Given the description of an element on the screen output the (x, y) to click on. 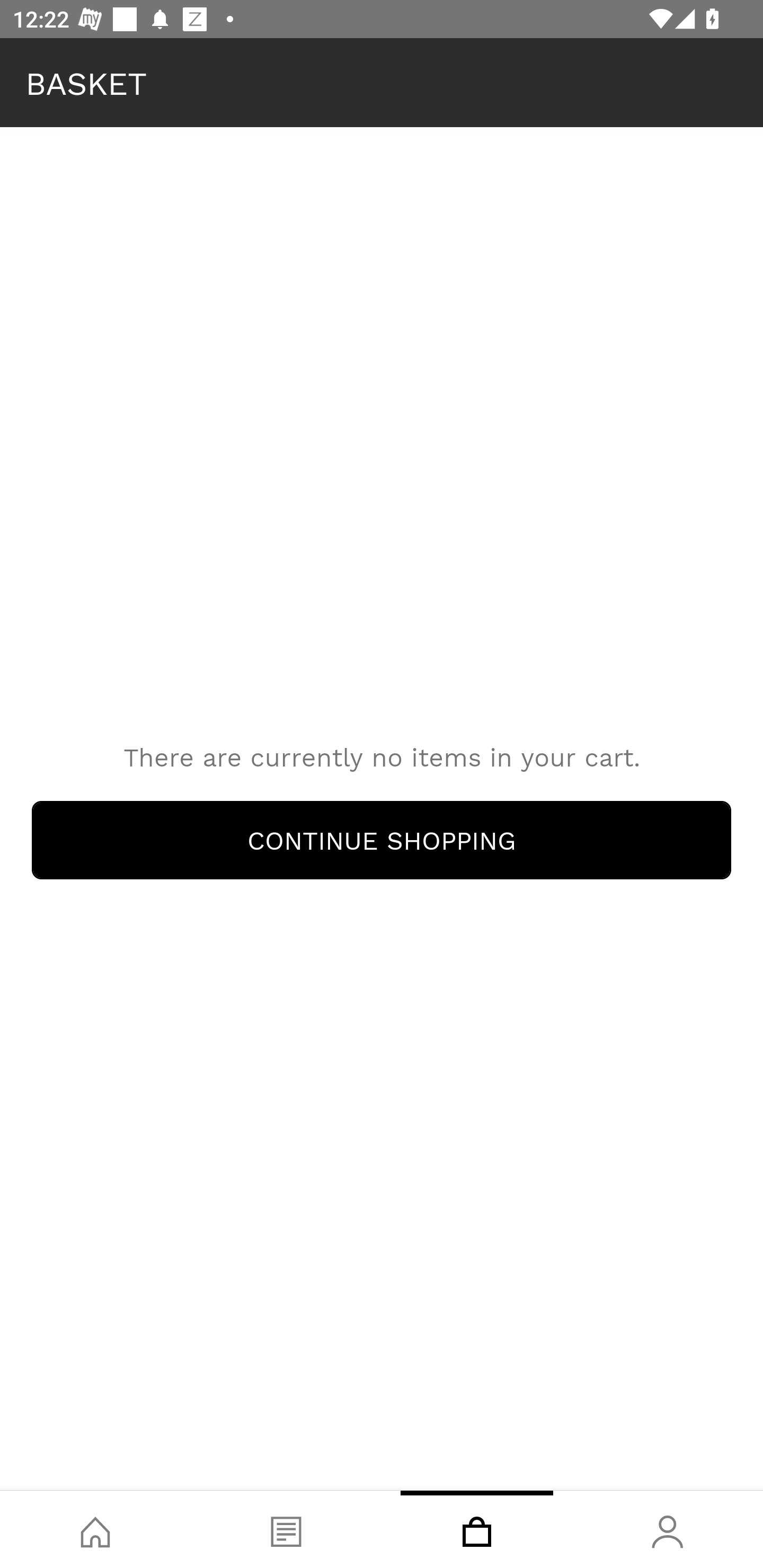
Continue Shopping CONTINUE SHOPPING (381, 840)
Shop, tab, 1 of 4 (95, 1529)
Blog, tab, 2 of 4 (285, 1529)
Basket, tab, 3 of 4 (476, 1529)
Account, tab, 4 of 4 (667, 1529)
